Given the description of an element on the screen output the (x, y) to click on. 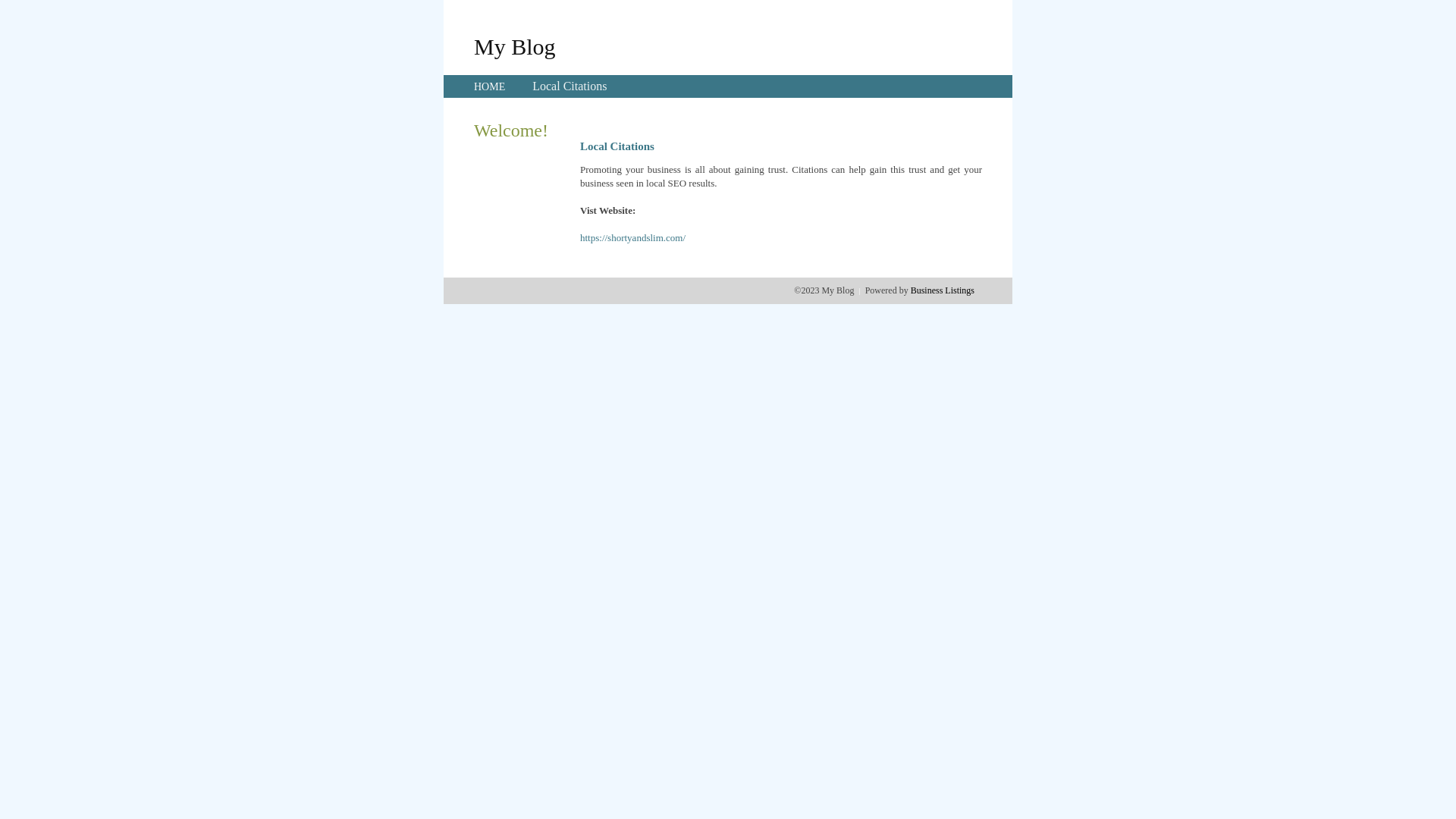
HOME Element type: text (489, 86)
My Blog Element type: text (514, 46)
Local Citations Element type: text (569, 85)
Business Listings Element type: text (942, 290)
https://shortyandslim.com/ Element type: text (632, 237)
